Given the description of an element on the screen output the (x, y) to click on. 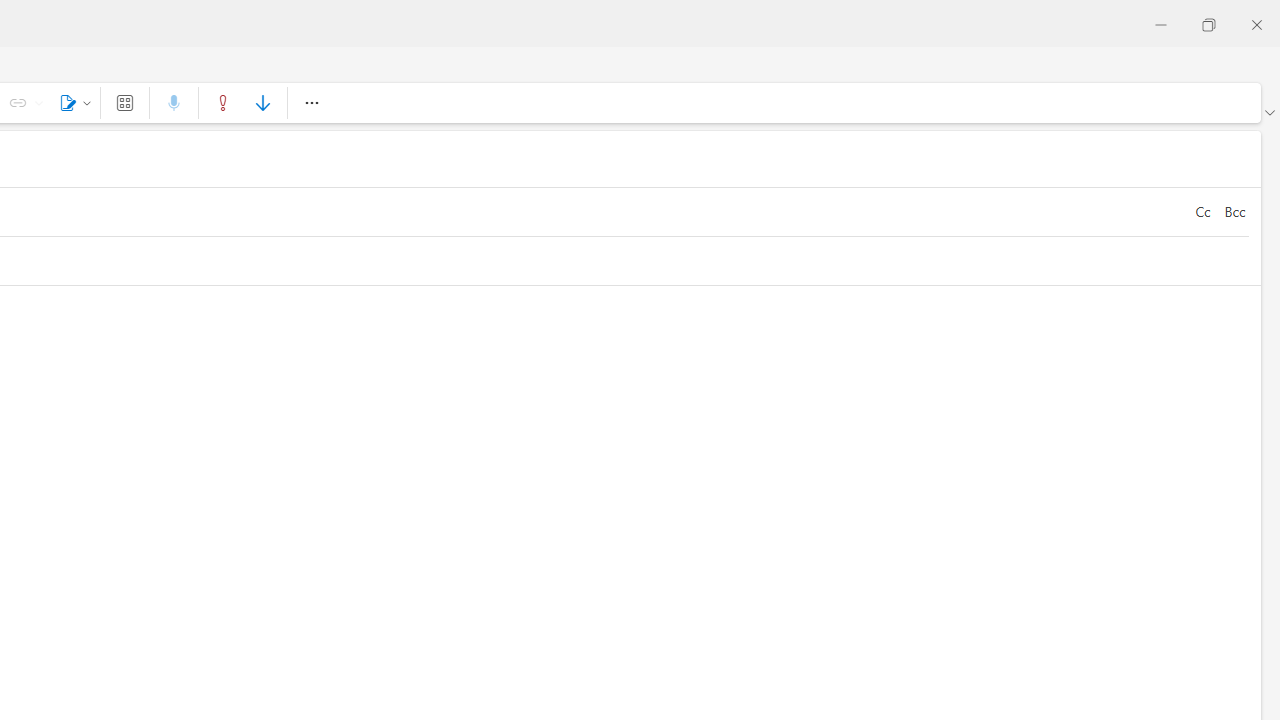
Bcc (1234, 211)
Link (38, 102)
Signature (71, 102)
Low importance (262, 102)
Ribbon display options (1269, 112)
Cc (1202, 211)
Dictate (173, 102)
High importance (223, 102)
More options (311, 102)
Apps (124, 102)
